Given the description of an element on the screen output the (x, y) to click on. 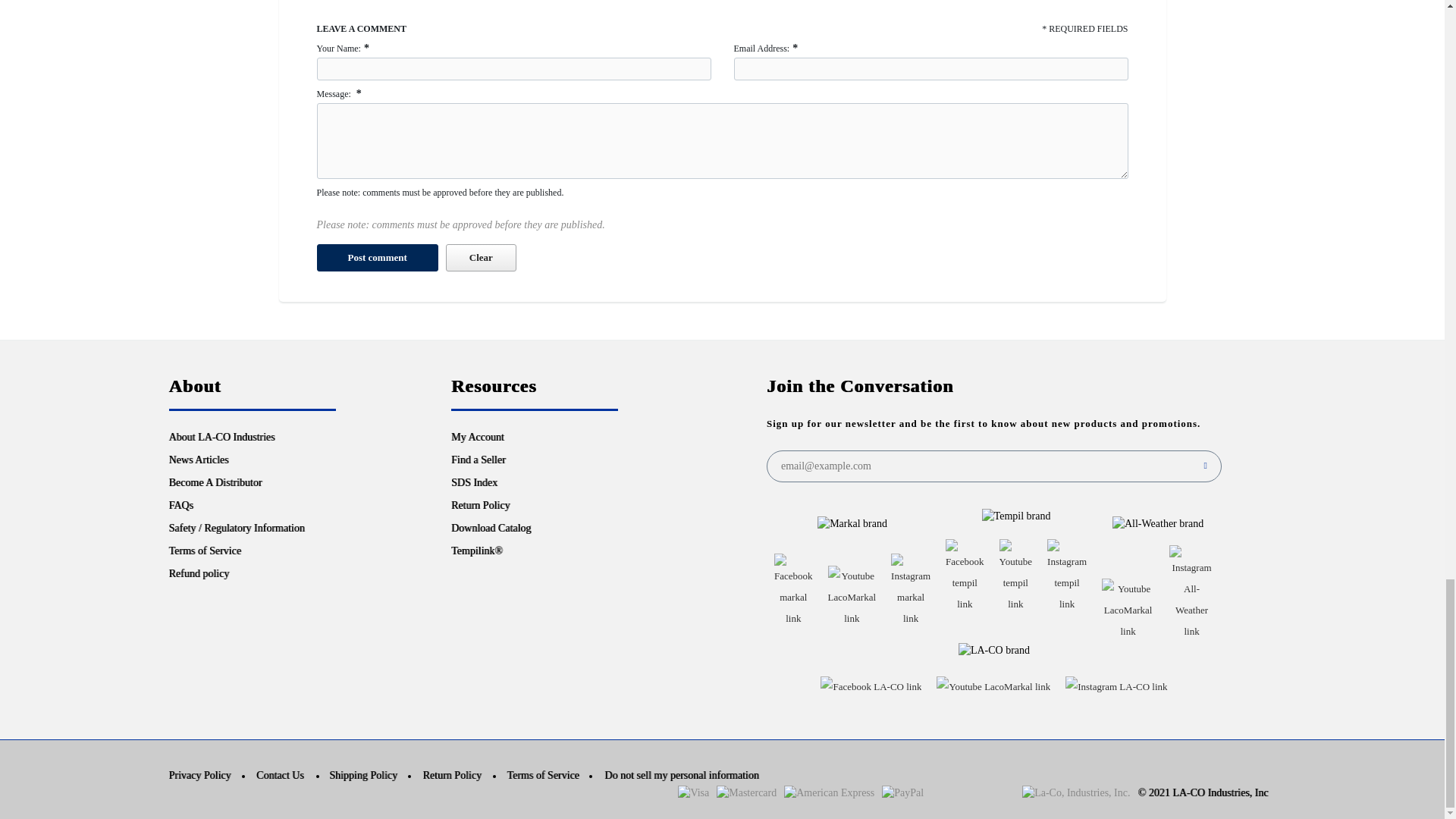
About LA-CO Industries (221, 437)
Clear (480, 257)
News Articles (198, 460)
FAQs (180, 505)
Become A Distributor (215, 482)
Post comment (377, 257)
